Given the description of an element on the screen output the (x, y) to click on. 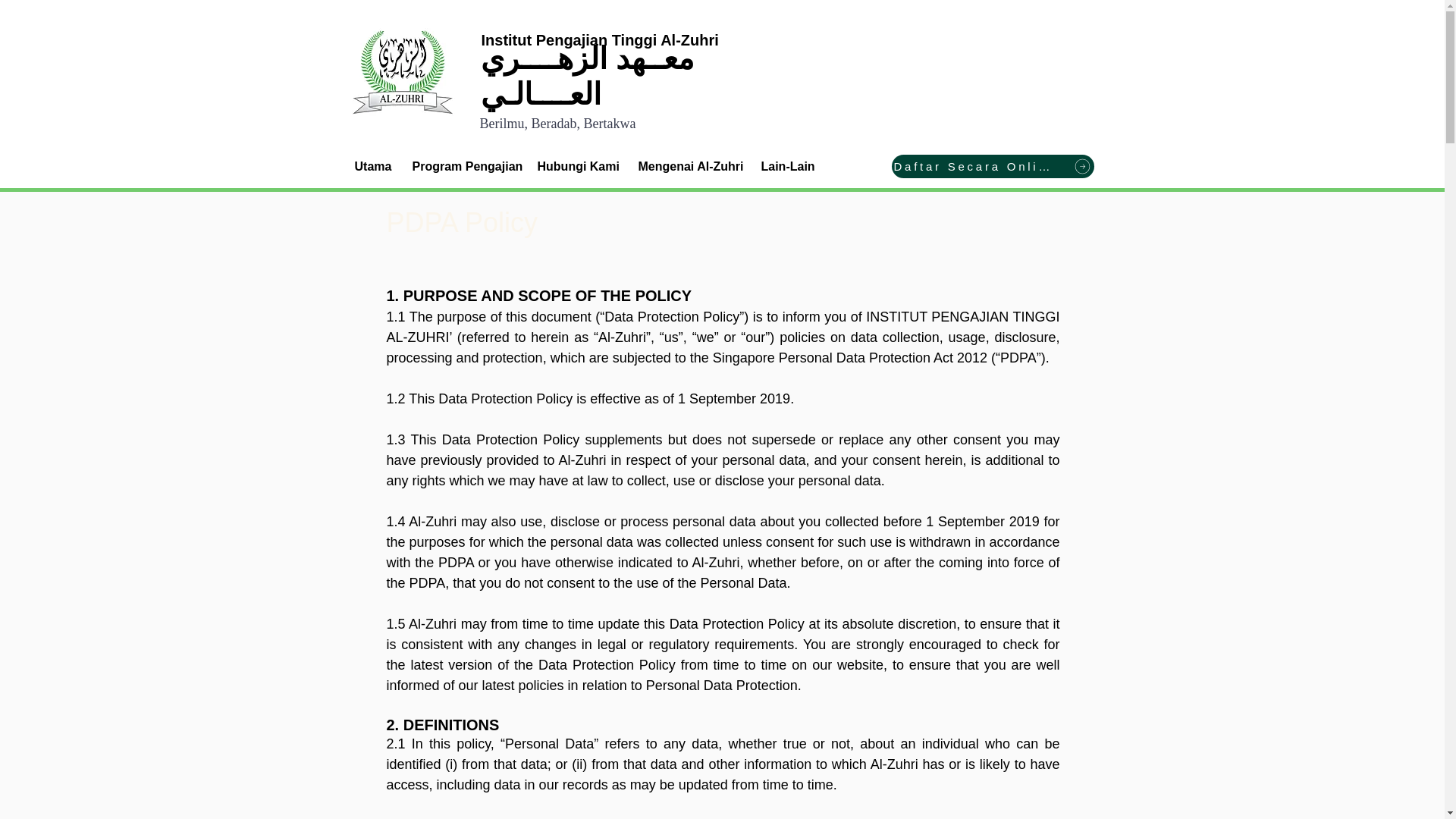
Daftar Secara Online (992, 166)
Hubungi Kami (576, 166)
Utama (371, 166)
Program Pengajian (462, 166)
